Given the description of an element on the screen output the (x, y) to click on. 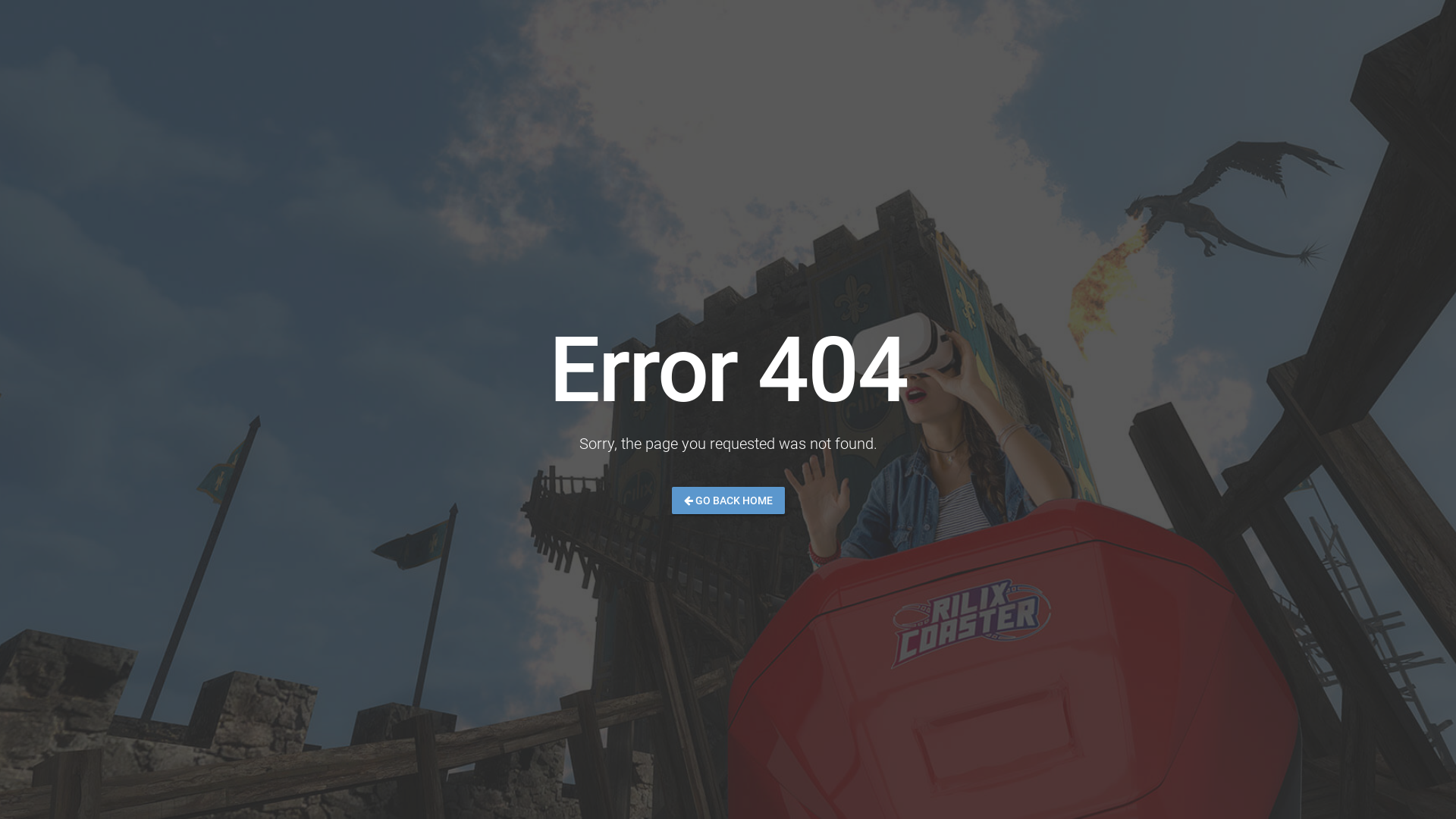
GO BACK HOME Element type: text (727, 500)
